Given the description of an element on the screen output the (x, y) to click on. 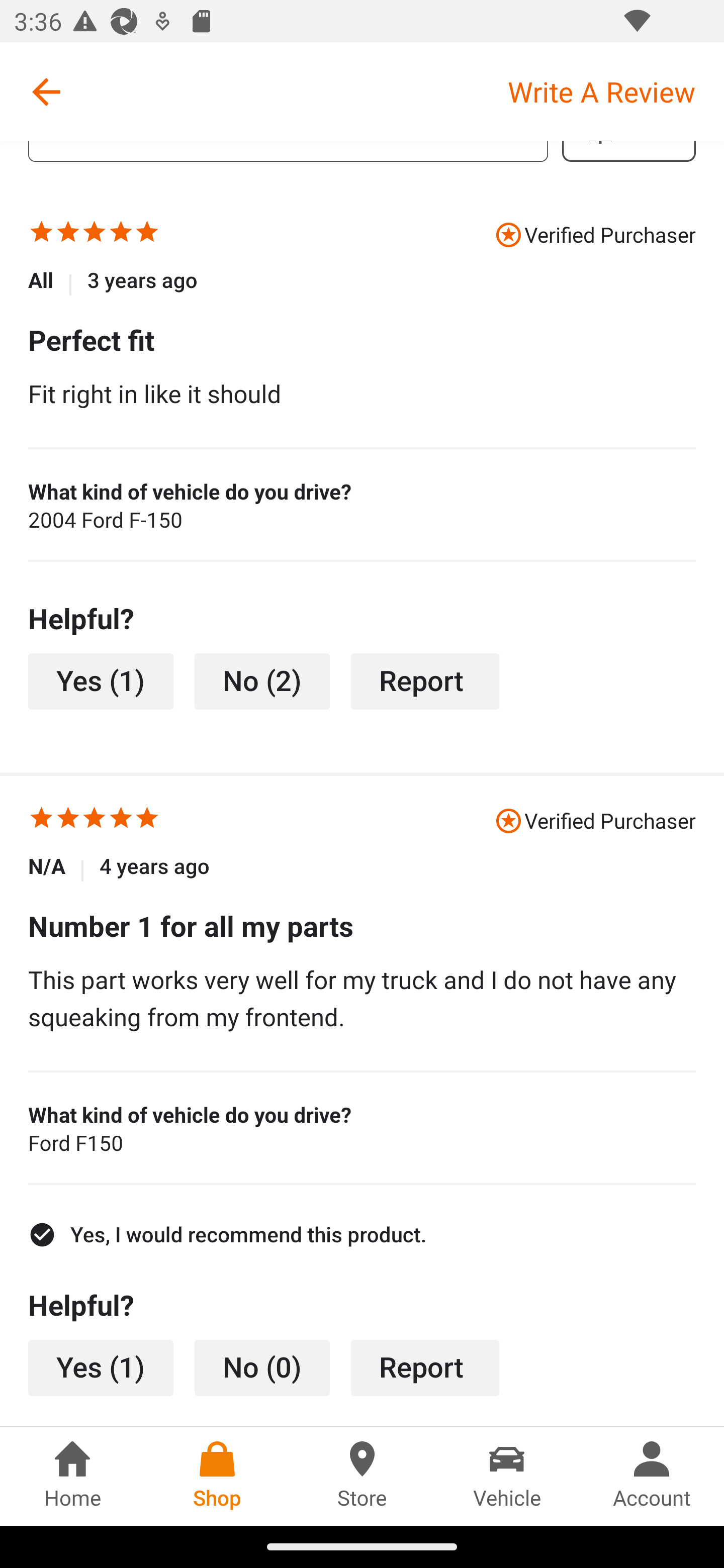
Go back (45, 91)
Write A Review (615, 91)
 (41, 233)
 (68, 233)
 (94, 233)
 (120, 233)
 (146, 233)
Yes (1) (100, 681)
No (2) (262, 681)
Report  (425, 681)
 (41, 820)
 (68, 820)
 (94, 820)
 (120, 820)
 (146, 820)
Yes (1) (100, 1367)
No (0) (262, 1367)
Report  (425, 1367)
Home (72, 1475)
Shop (216, 1475)
Store (361, 1475)
Vehicle (506, 1475)
Account (651, 1475)
